Given the description of an element on the screen output the (x, y) to click on. 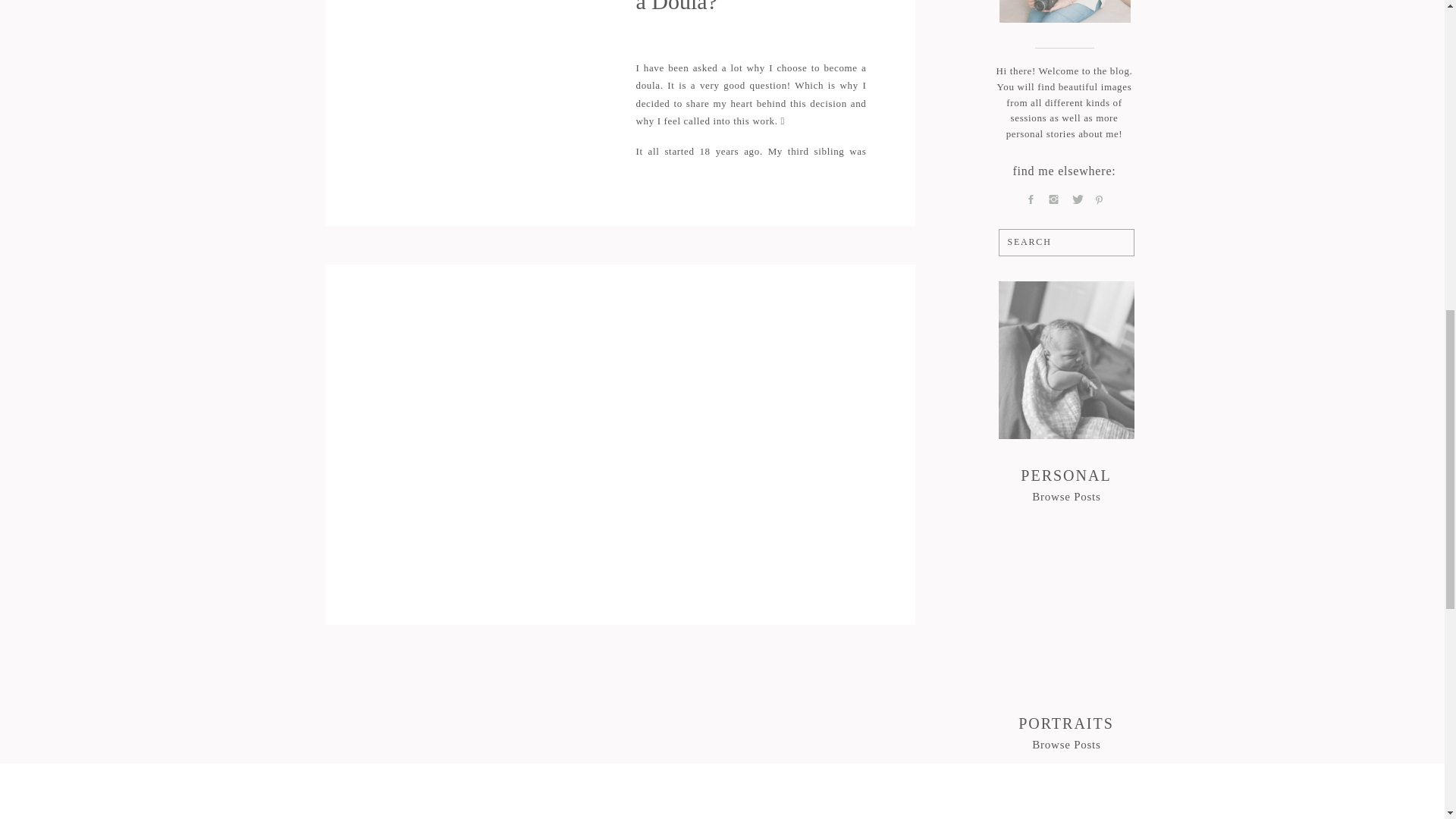
Browse Posts (1066, 495)
First Step: Why Choose a Doula? (743, 6)
First Step: Why Choose a Doula? (475, 94)
First Step: Why Choose a Doula? (1066, 495)
